Given the description of an element on the screen output the (x, y) to click on. 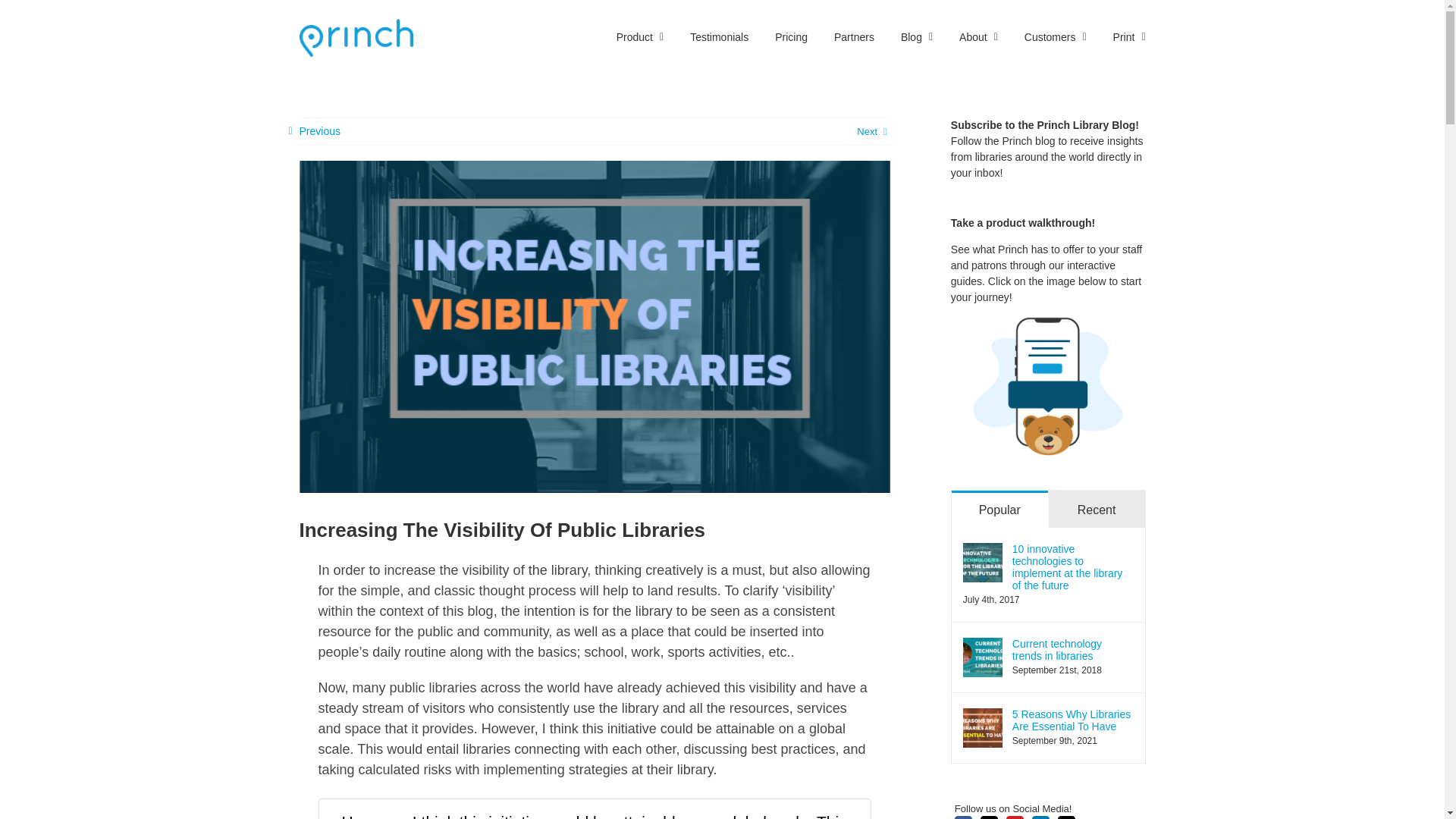
Mail (1066, 817)
Twitter (988, 817)
YouTube (1014, 817)
Facebook (963, 817)
LinkedIn (1040, 817)
